Given the description of an element on the screen output the (x, y) to click on. 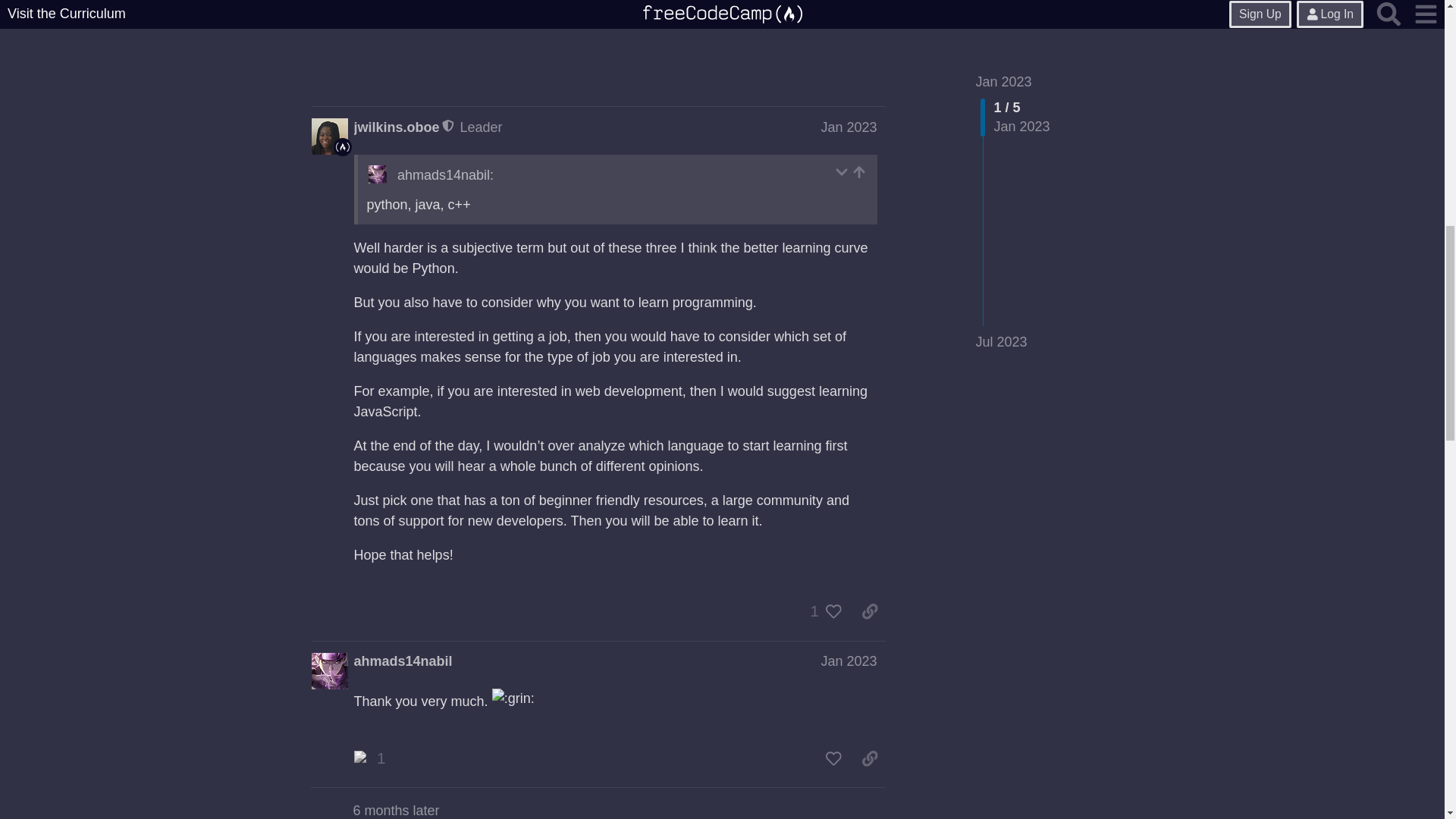
jwilkins.oboe (396, 127)
Jan 2023 (848, 127)
Jan 2023 (848, 661)
ahmads14nabil (402, 660)
